Given the description of an element on the screen output the (x, y) to click on. 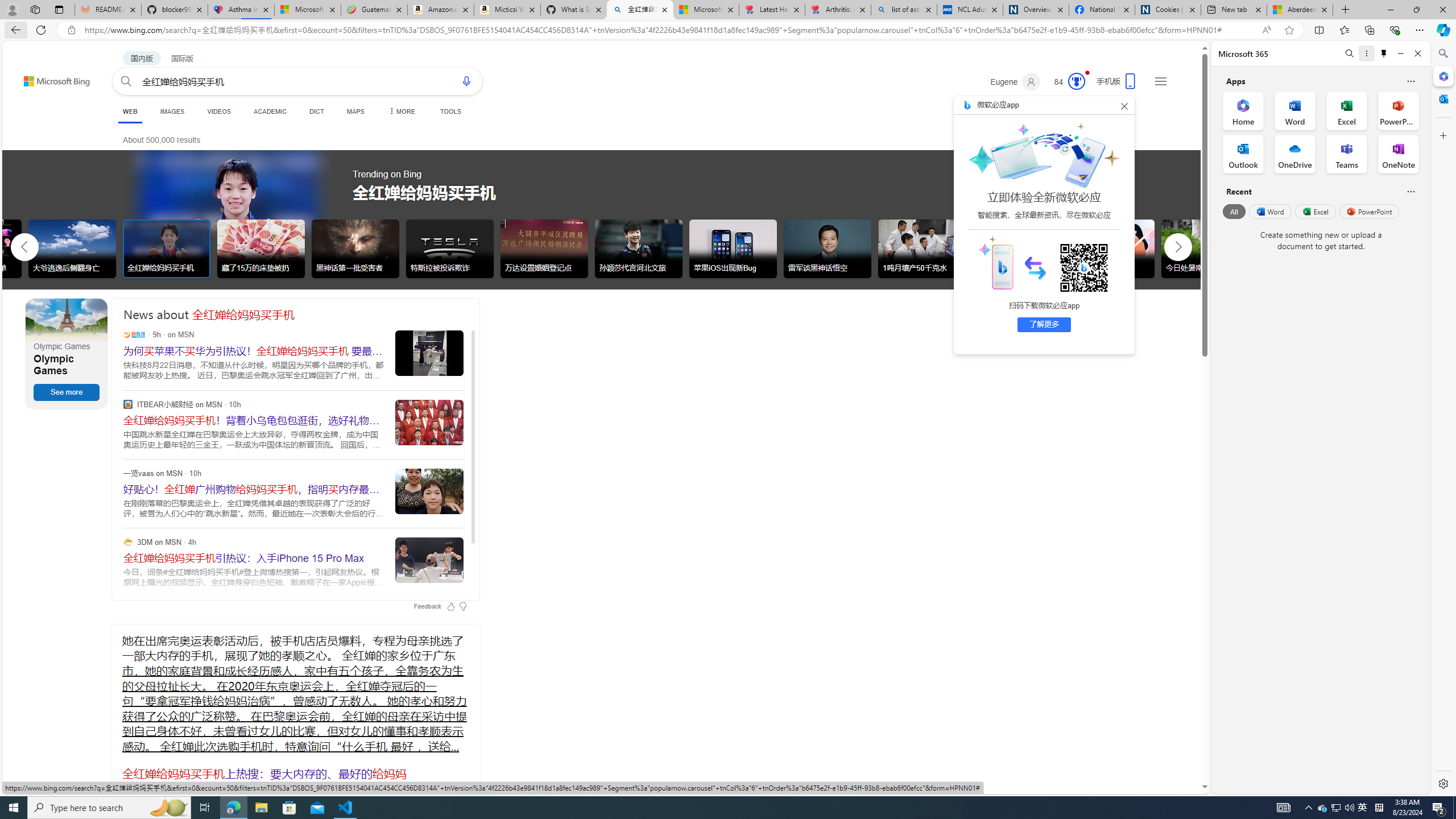
www.chinaz.com/2024/0822/1637603.shtml (126, 786)
OneDrive Office App (1295, 154)
Click to scroll left (25, 246)
list of asthma inhalers uk - Search (904, 9)
Close Customize pane (1442, 135)
DICT (316, 111)
AutomationID: serp_medal_svg (1076, 81)
3DM on MSN (127, 541)
